Given the description of an element on the screen output the (x, y) to click on. 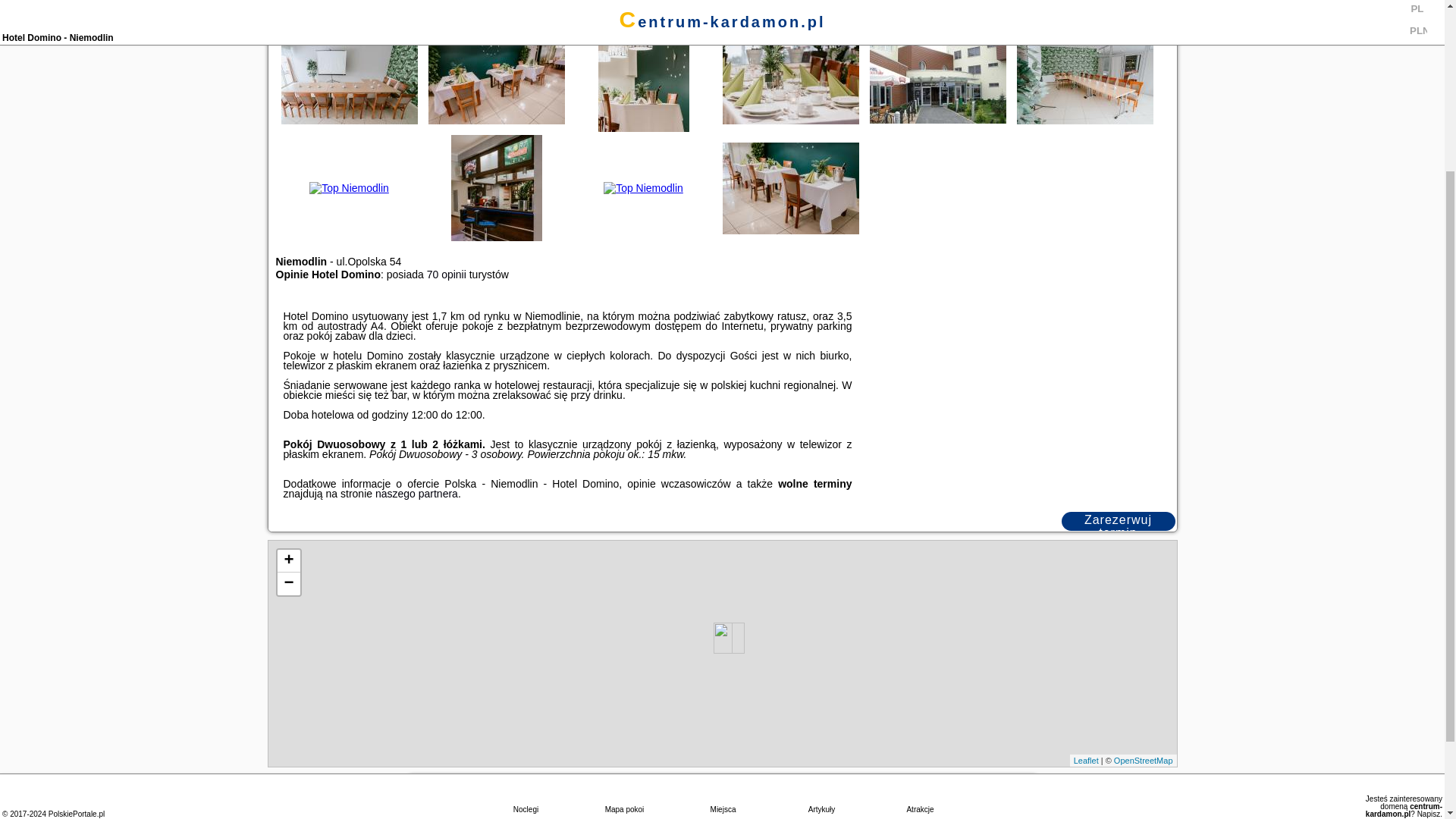
PolskiePortale.pl (76, 583)
Napisz (1428, 583)
Urlop Wczasy Hotel Domino Polska (791, 78)
Urlop Wczasy Hotel Domino Polska (644, 93)
Urlop Wczasy Hotel Domino Polska (938, 78)
Top Niemodlin (790, 78)
Urlop Wczasy Hotel Domino Polska (1085, 78)
Urlop Wczasy Hotel Domino Polska (497, 78)
Top Niemodlin (1084, 78)
Atrakcje (919, 567)
OpenStreetMap (1143, 759)
Zarezerwuj termin (1117, 520)
Top Niemodlin (348, 78)
70 opinii (445, 274)
Urlop Wczasy Hotel Domino Polska (350, 78)
